Given the description of an element on the screen output the (x, y) to click on. 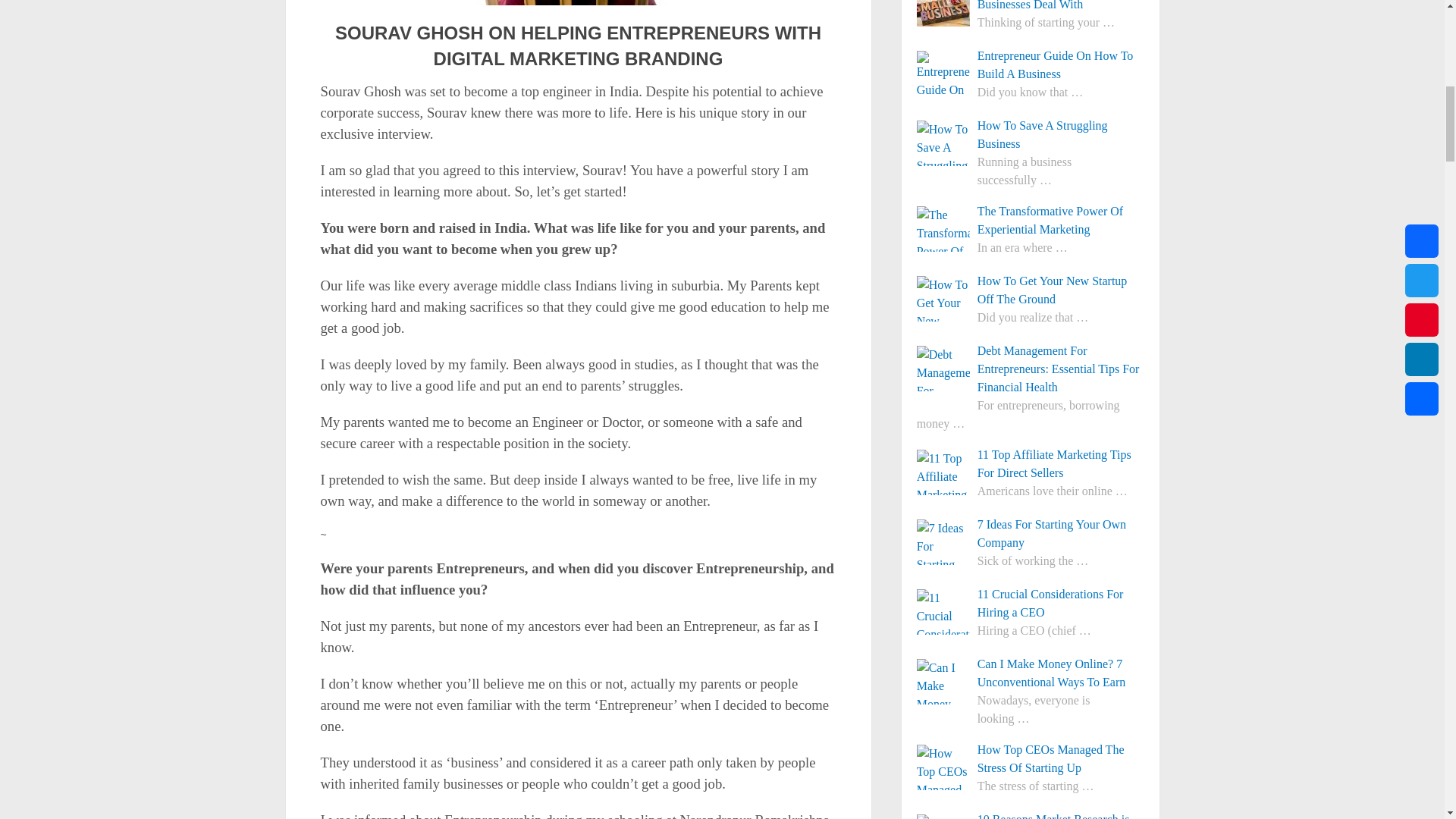
5 Pain Points Most Small Businesses Deal With (1030, 6)
